Given the description of an element on the screen output the (x, y) to click on. 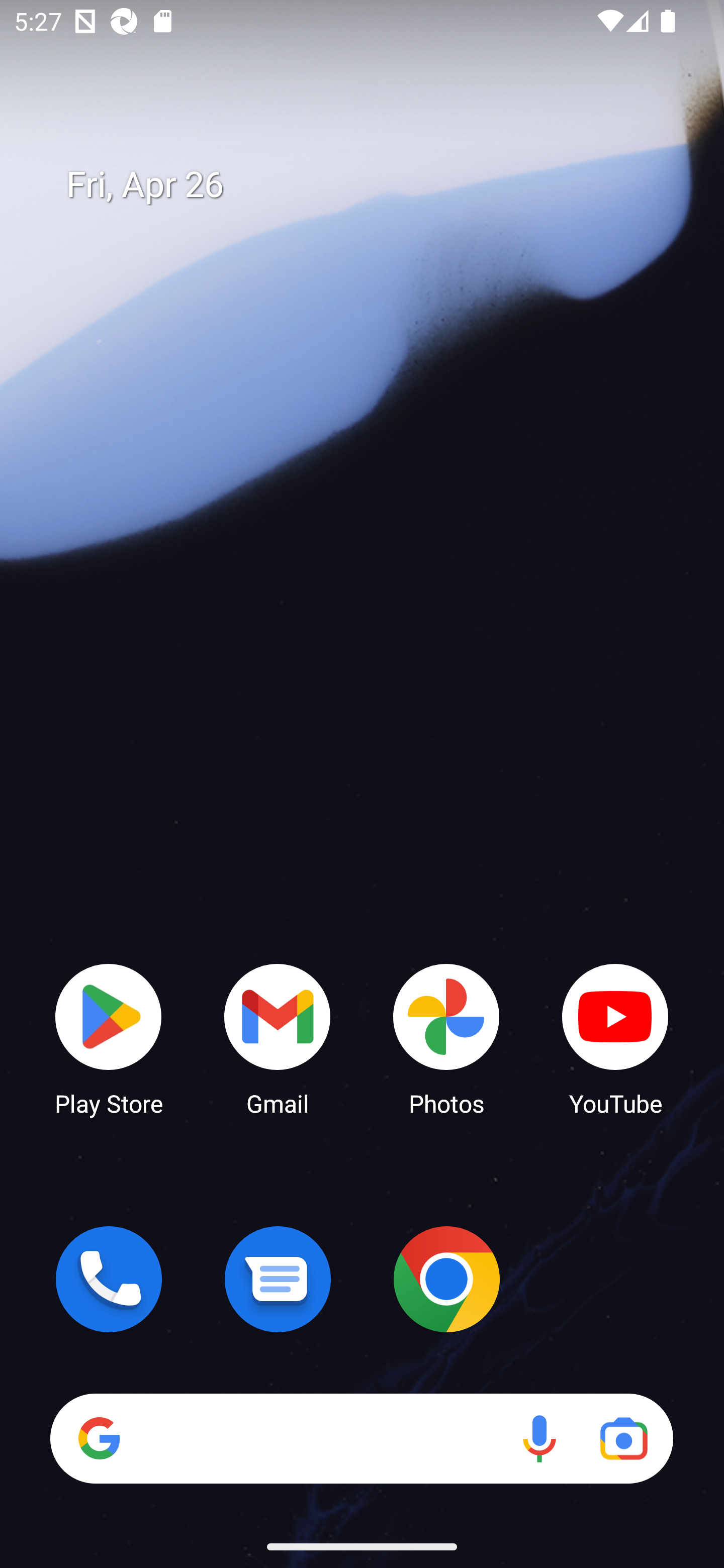
Fri, Apr 26 (375, 184)
Play Store (108, 1038)
Gmail (277, 1038)
Photos (445, 1038)
YouTube (615, 1038)
Phone (108, 1279)
Messages (277, 1279)
Chrome (446, 1279)
Search Voice search Google Lens (361, 1438)
Voice search (539, 1438)
Google Lens (623, 1438)
